Given the description of an element on the screen output the (x, y) to click on. 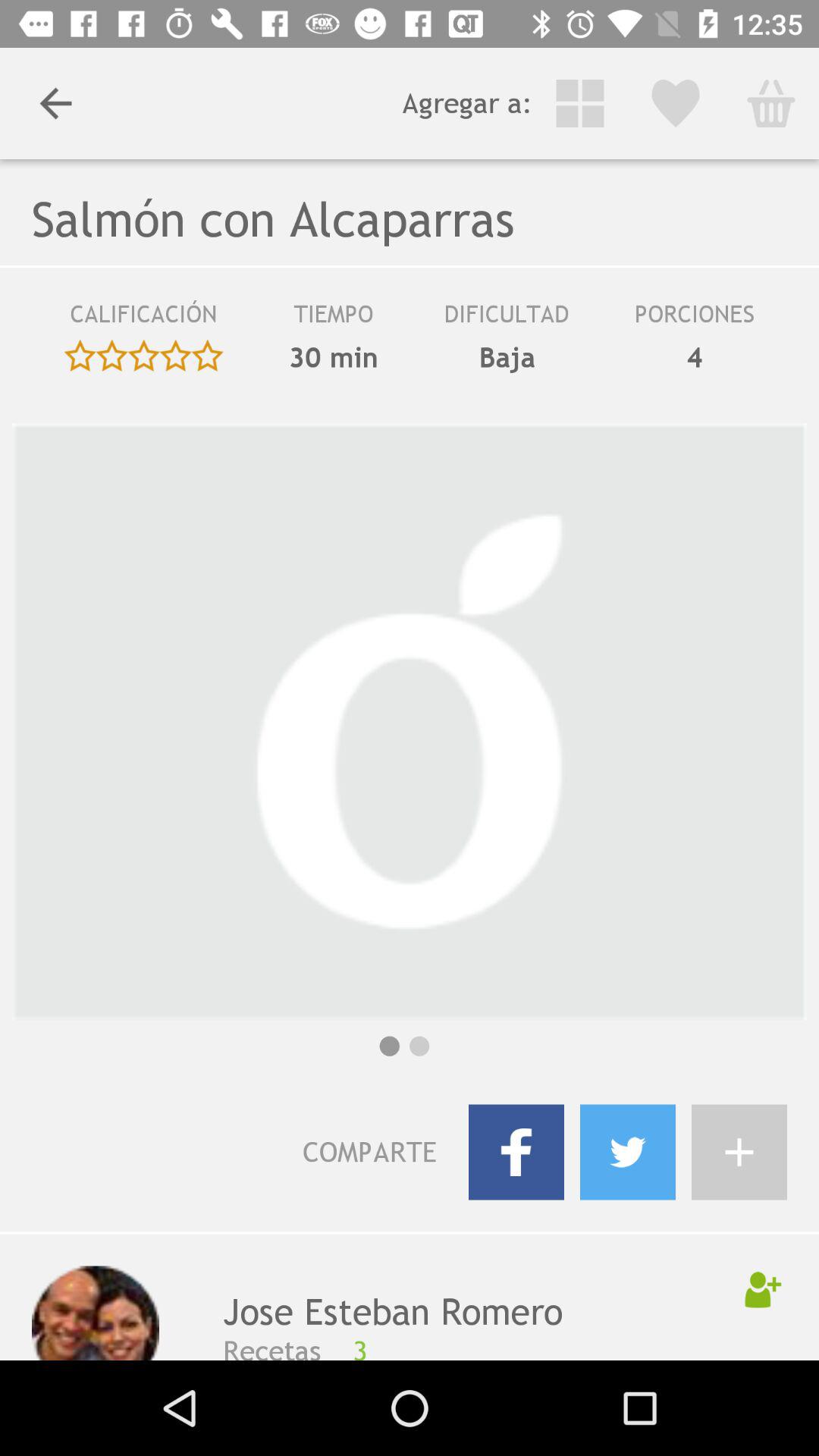
go to facebook (516, 1152)
